Given the description of an element on the screen output the (x, y) to click on. 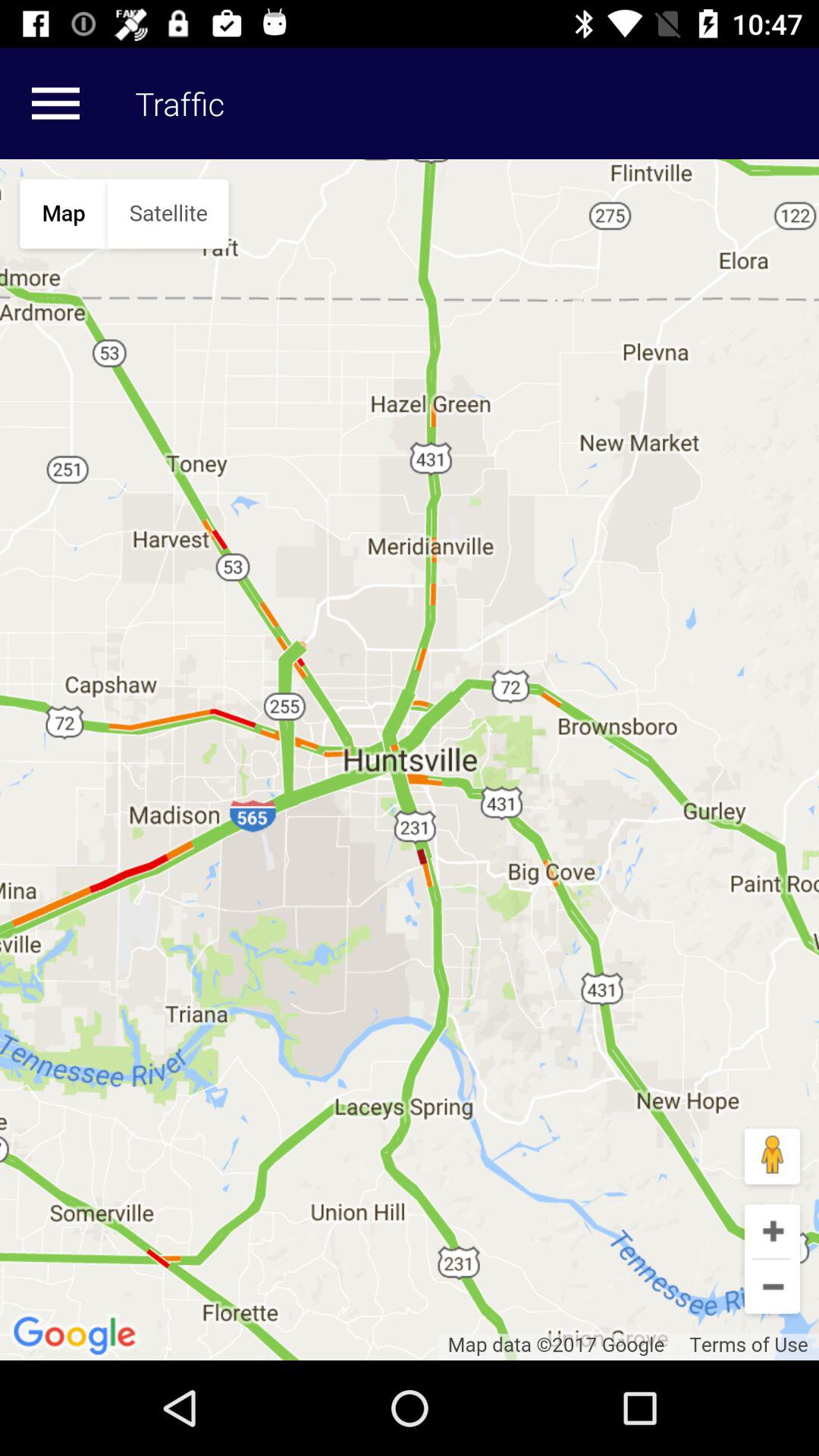
advertisement page (409, 759)
